Given the description of an element on the screen output the (x, y) to click on. 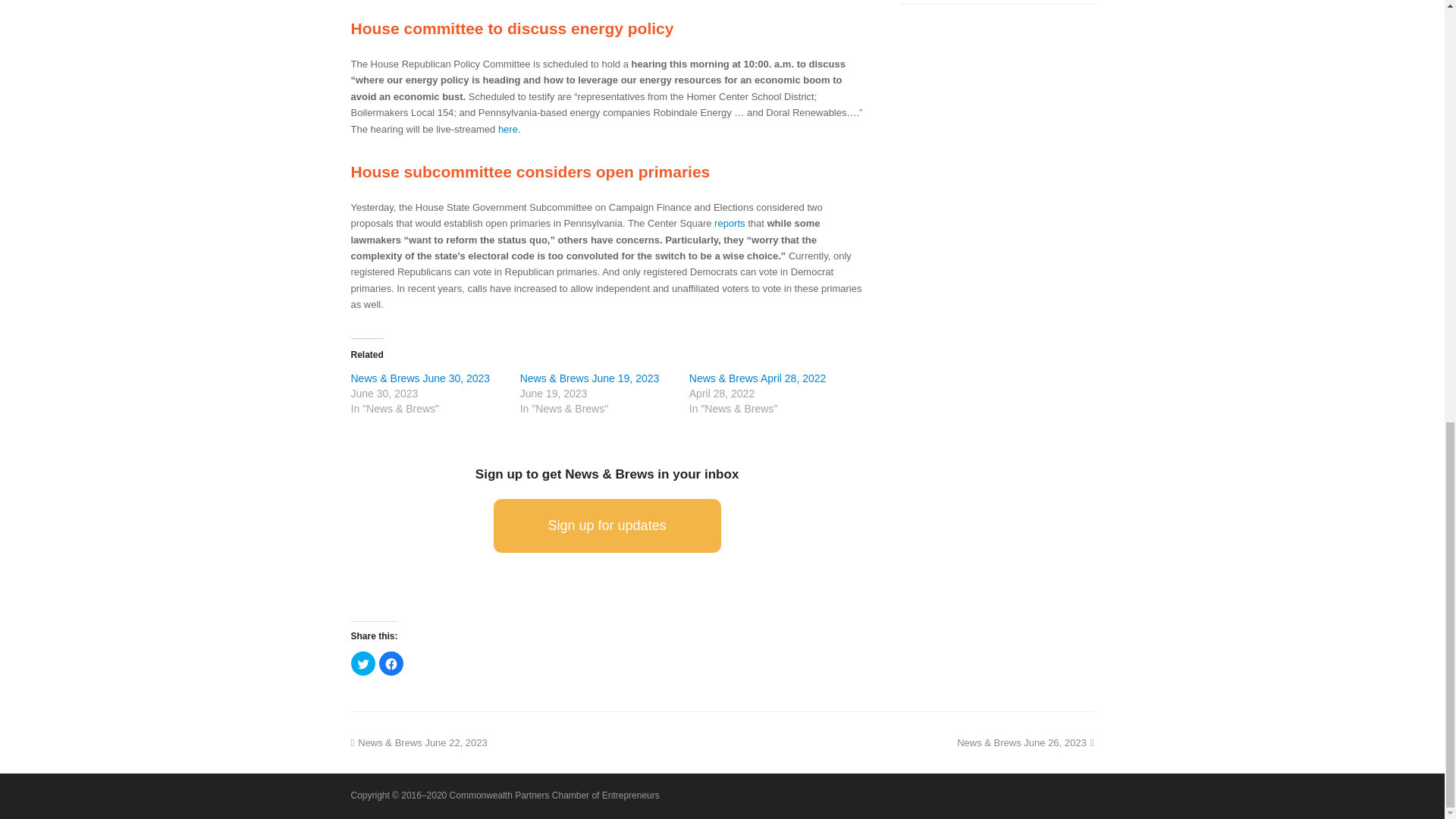
Sign up for updates (606, 525)
here (507, 129)
Click to share on Twitter (362, 663)
Click to share on Facebook (390, 663)
reports (729, 223)
